Given the description of an element on the screen output the (x, y) to click on. 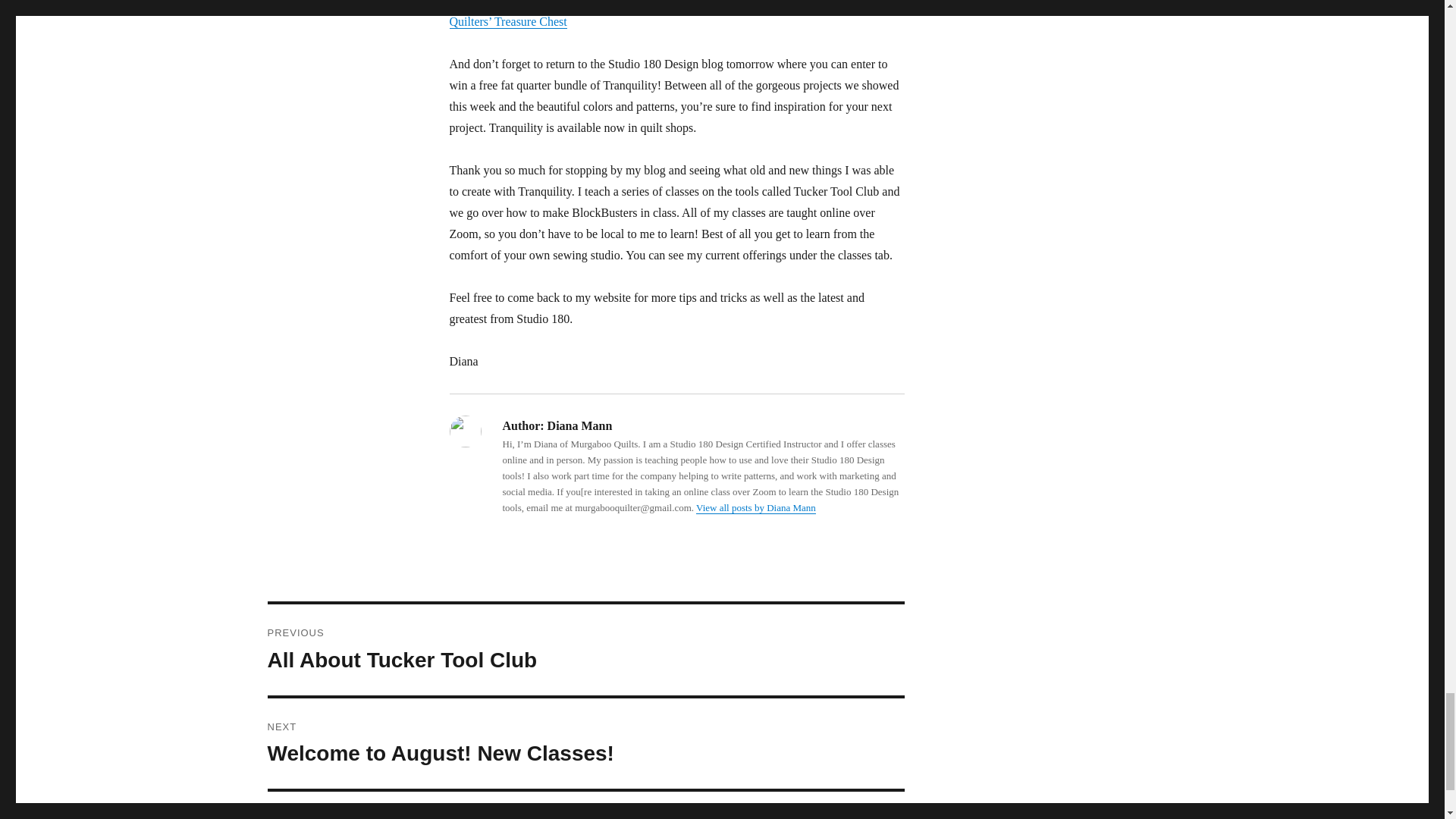
View all posts by Diana Mann (585, 649)
